Given the description of an element on the screen output the (x, y) to click on. 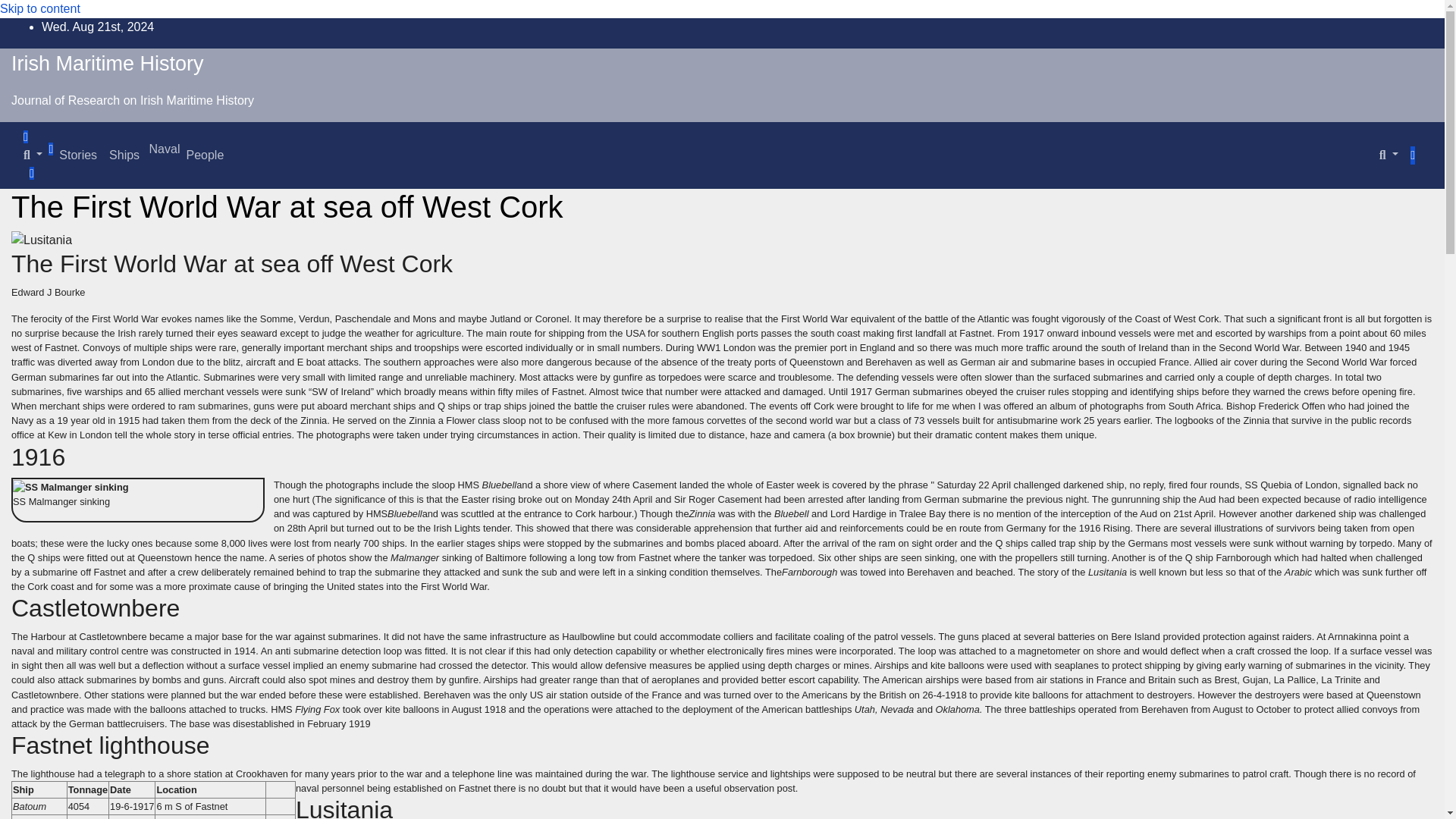
Skip to content (40, 8)
The First World War at sea off West Cork (287, 205)
Stories (77, 154)
Stories (77, 154)
 Naval (162, 148)
Ships (124, 154)
People (204, 154)
Permalink to: The First World War at sea off West Cork (287, 205)
Naval (162, 148)
Irish Maritime History (107, 63)
